Given the description of an element on the screen output the (x, y) to click on. 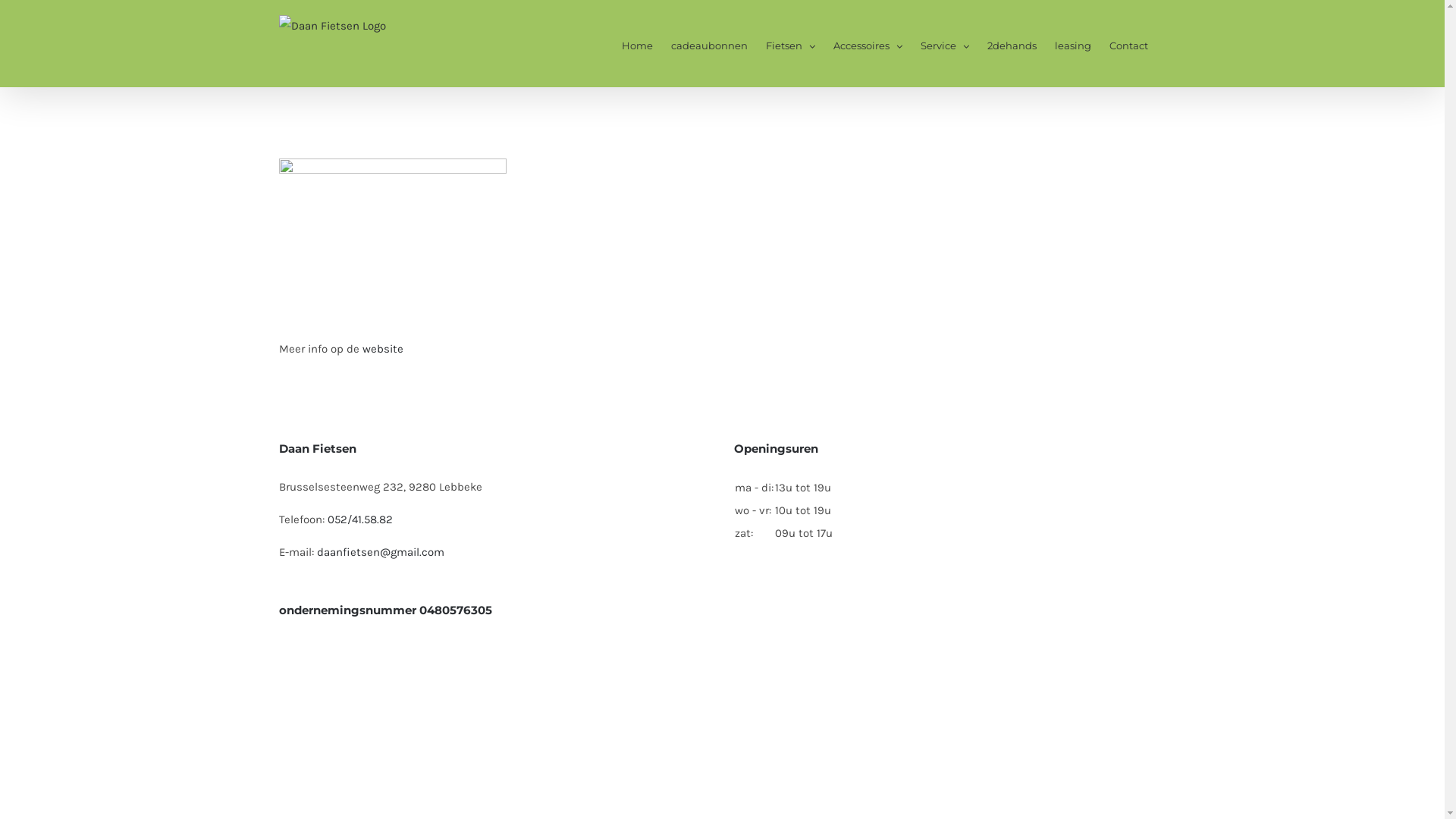
website Element type: text (382, 348)
daanfietsen@gmail.com Element type: text (380, 551)
052/41.58.82 Element type: text (359, 519)
Accessoires Element type: text (866, 43)
Fietsen Element type: text (790, 43)
2dehands Element type: text (1011, 43)
leasing Element type: text (1072, 43)
cadeaubonnen Element type: text (708, 43)
Service Element type: text (944, 43)
Home Element type: text (636, 43)
Contact Element type: text (1127, 43)
View Larger Image Element type: text (392, 221)
